Given the description of an element on the screen output the (x, y) to click on. 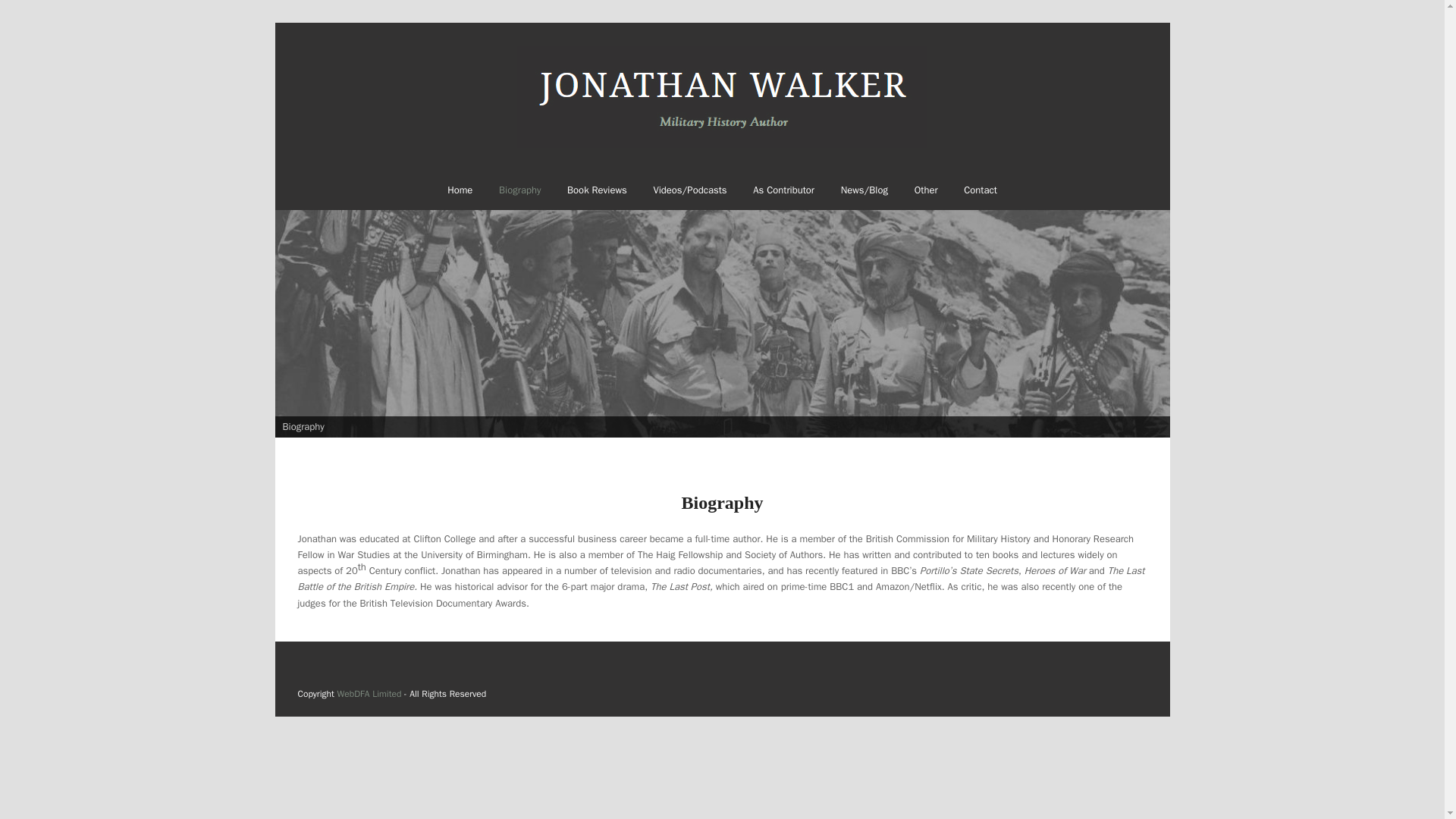
Other (925, 190)
WebDFA Limited (368, 693)
Book Reviews (597, 190)
Biography (520, 190)
As Contributor (784, 190)
Contact (980, 190)
Home (459, 190)
